Given the description of an element on the screen output the (x, y) to click on. 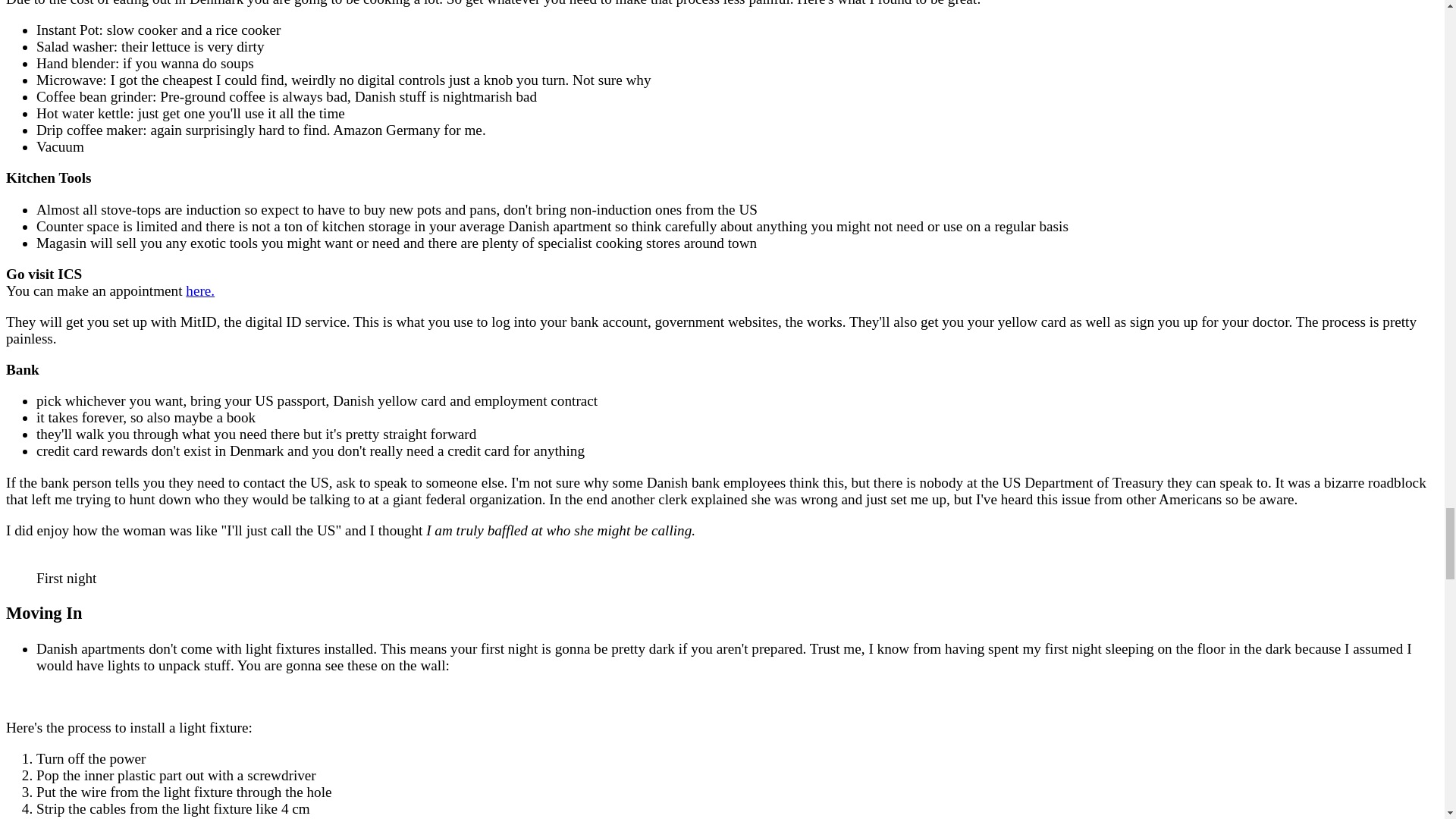
here. (200, 290)
